Given the description of an element on the screen output the (x, y) to click on. 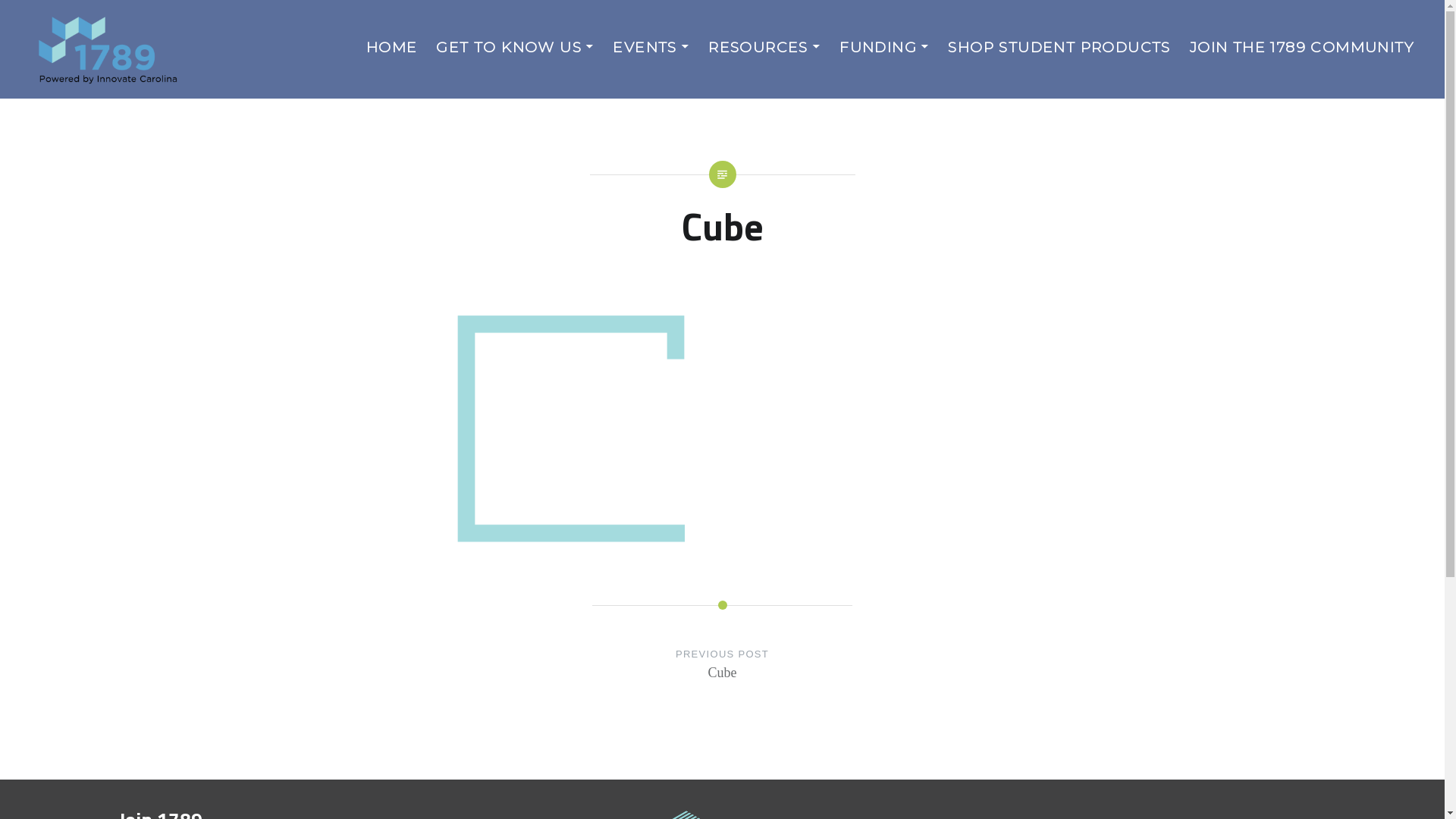
SHOP STUDENT PRODUCTS Element type: text (1058, 47)
GET TO KNOW US Element type: text (514, 47)
JOIN THE 1789 COMMUNITY Element type: text (1301, 47)
PREVIOUS POST
Cube Element type: text (722, 678)
RESOURCES Element type: text (764, 47)
HOME Element type: text (391, 47)
EVENTS Element type: text (650, 47)
FUNDING Element type: text (883, 47)
